Given the description of an element on the screen output the (x, y) to click on. 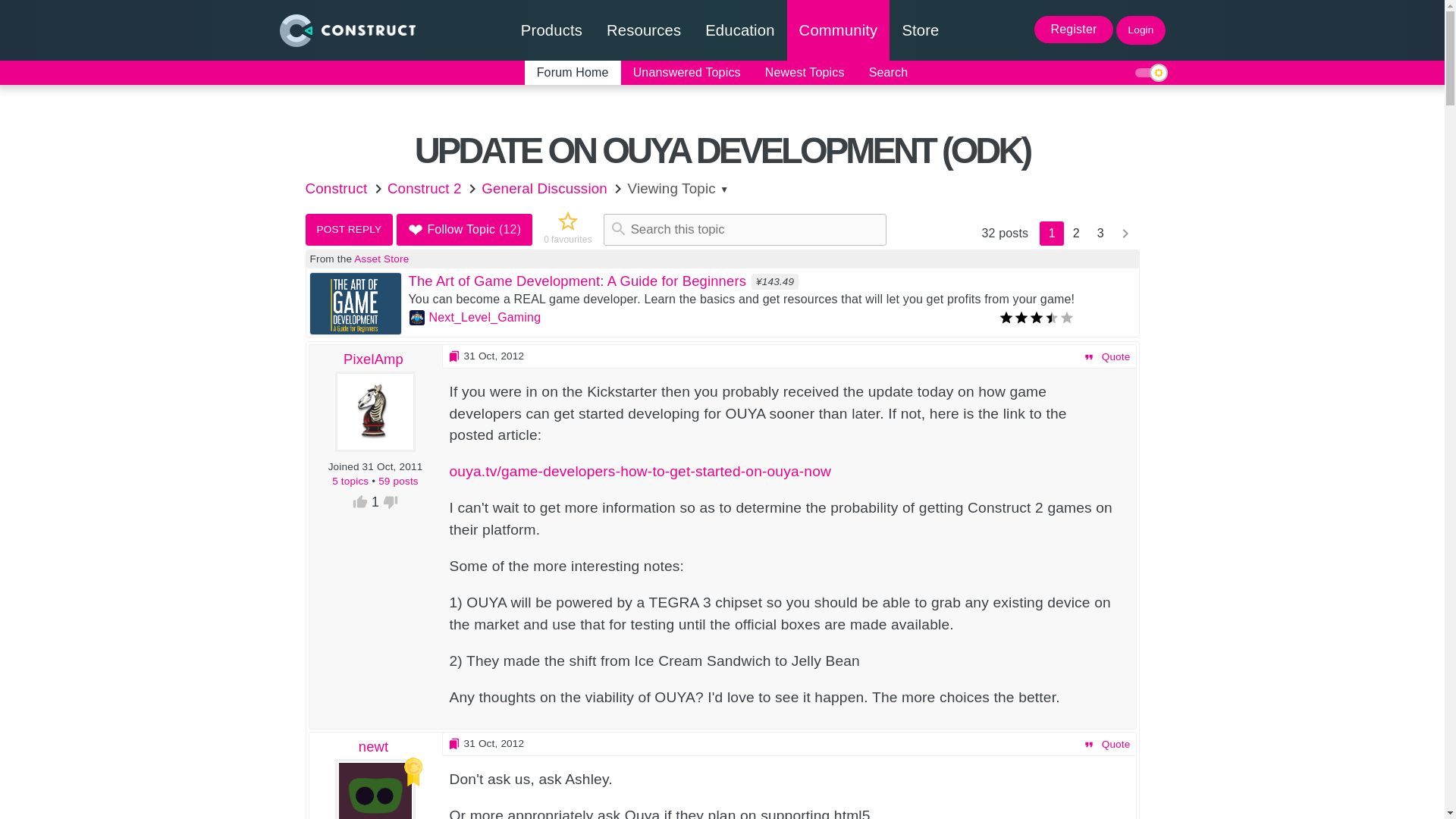
Products (551, 30)
Construct homepage (346, 30)
Tutorials and manual (643, 30)
Game maker (551, 30)
Education (739, 30)
Resources (643, 30)
